Given the description of an element on the screen output the (x, y) to click on. 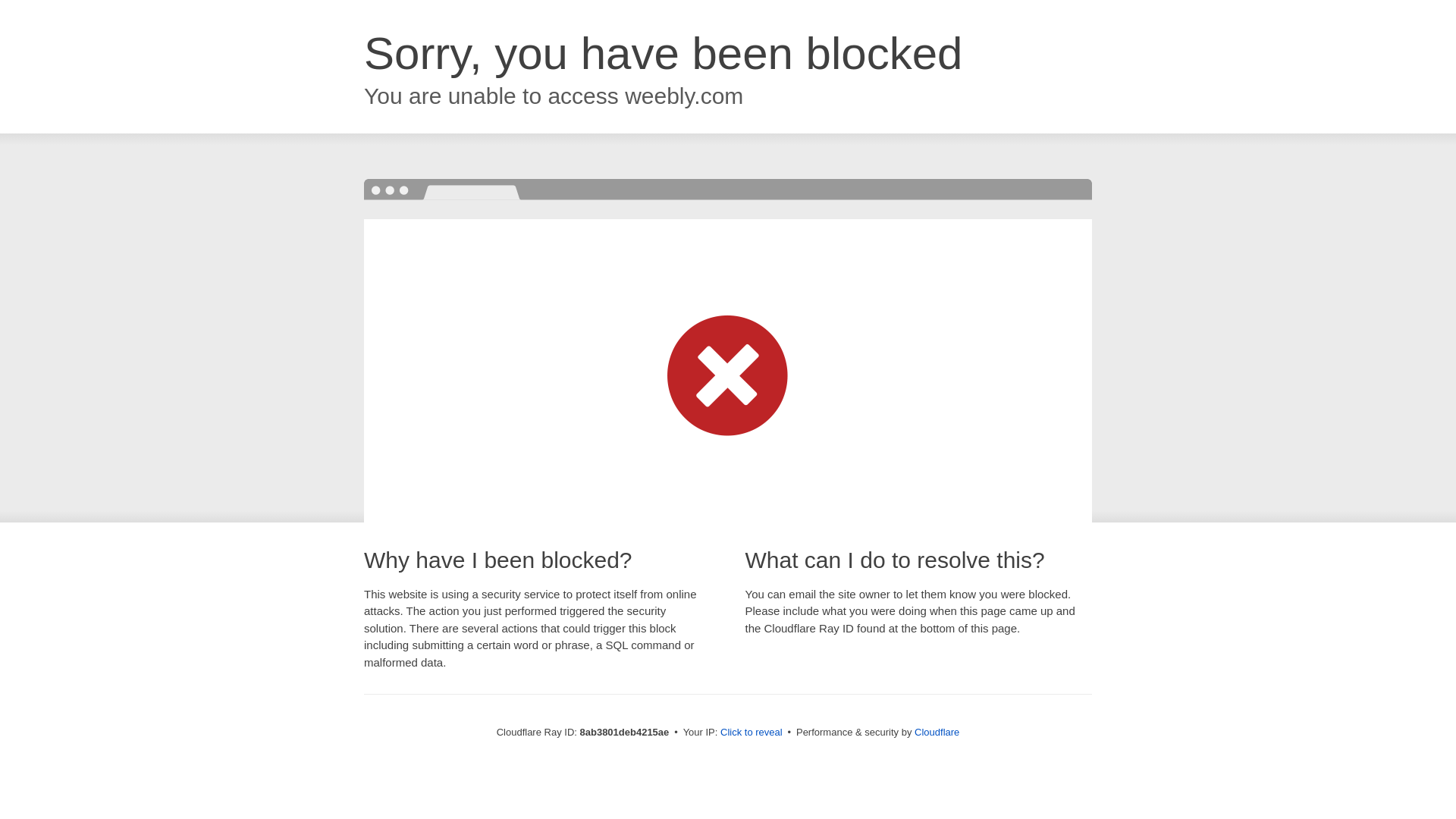
Click to reveal (751, 732)
Cloudflare (936, 731)
